Given the description of an element on the screen output the (x, y) to click on. 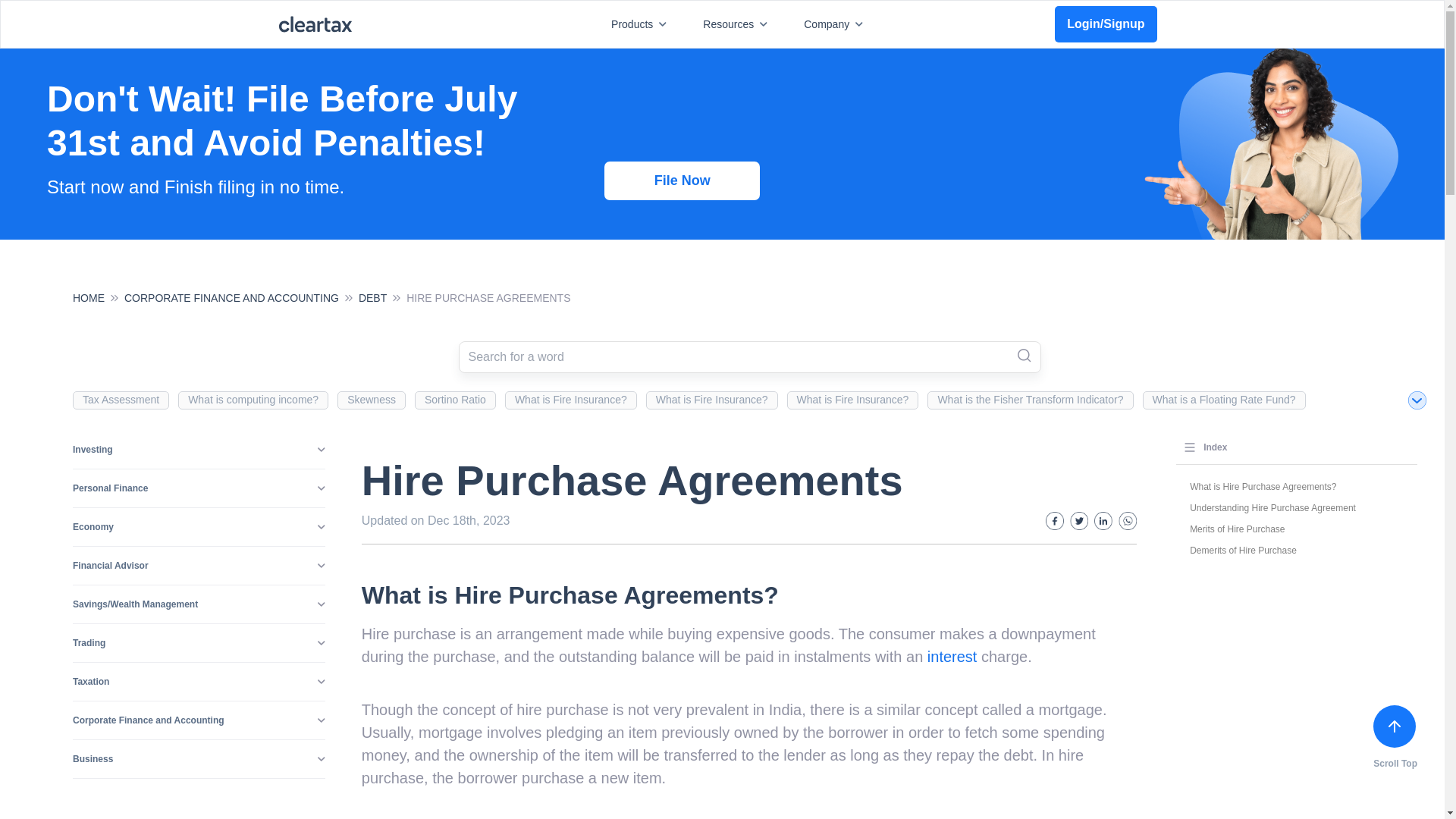
Company (836, 24)
Products (641, 24)
Resources (738, 24)
